Given the description of an element on the screen output the (x, y) to click on. 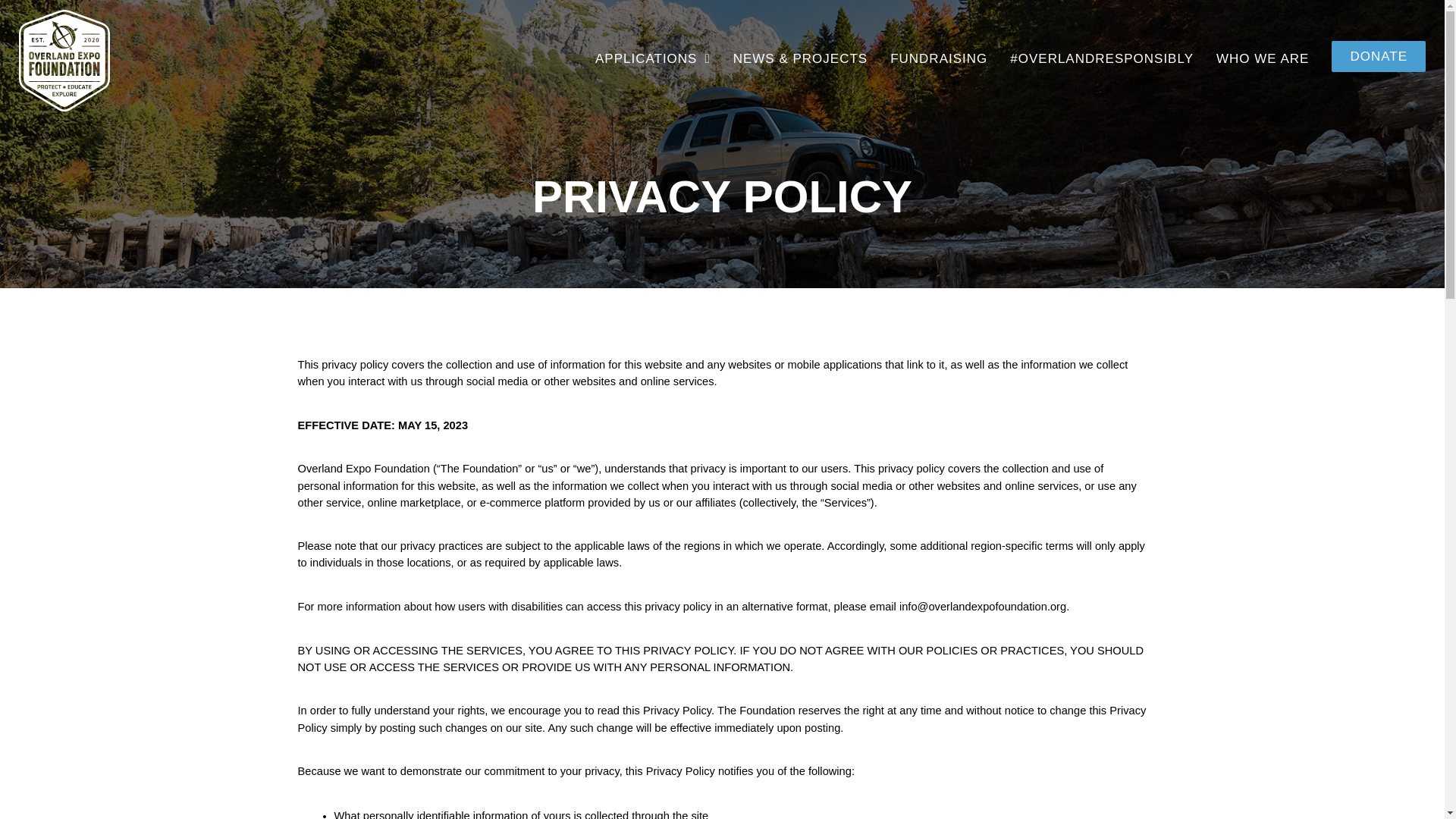
DONATE (1378, 56)
WHO WE ARE (1261, 58)
APPLICATIONS (652, 58)
FUNDRAISING (938, 58)
